Given the description of an element on the screen output the (x, y) to click on. 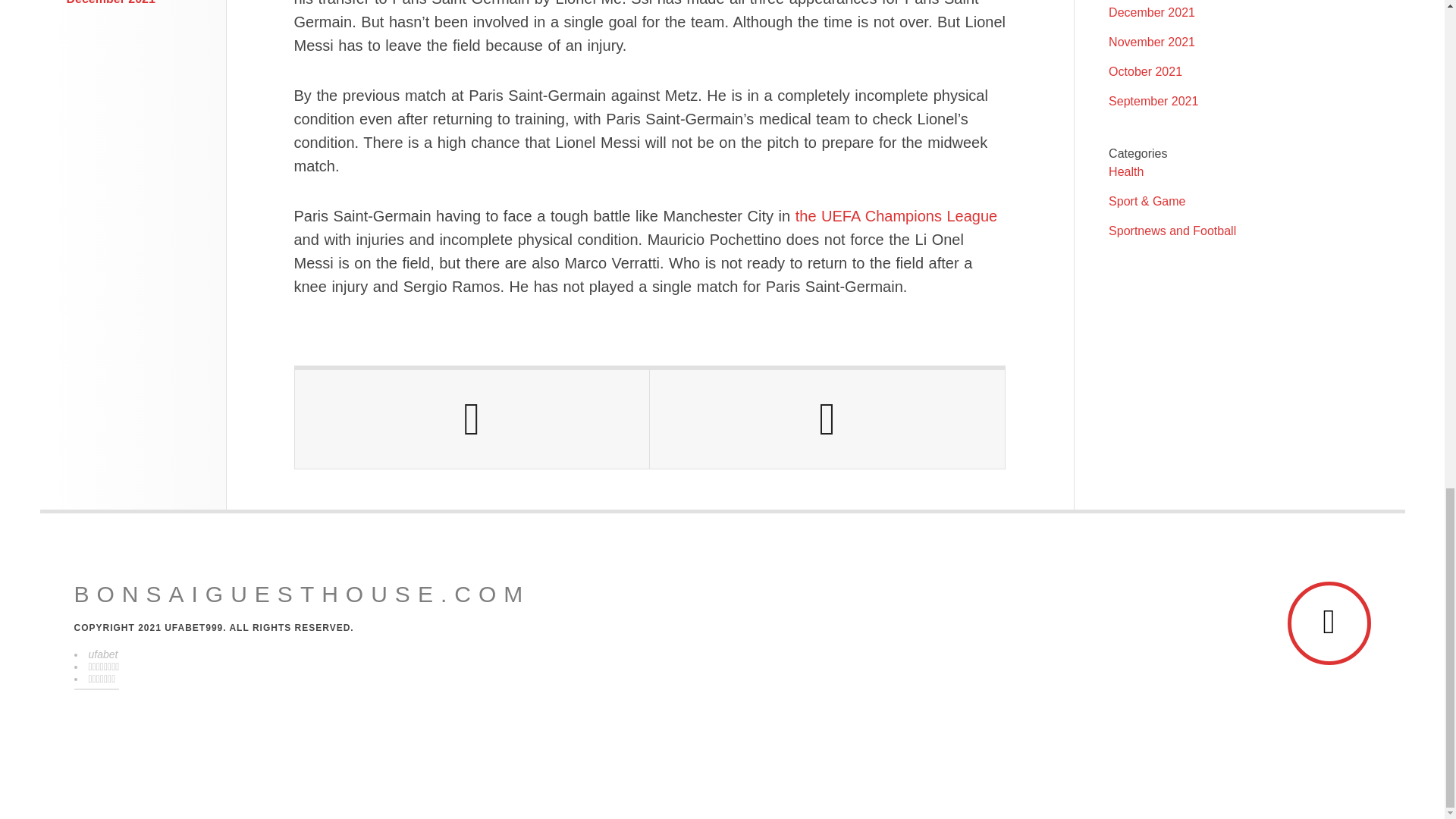
December 2021 (1151, 11)
Previous Post (471, 419)
bonsaiguesthouse.com (302, 594)
the UEFA Champions League (895, 216)
December 2021 (110, 2)
Next Post (826, 419)
